Given the description of an element on the screen output the (x, y) to click on. 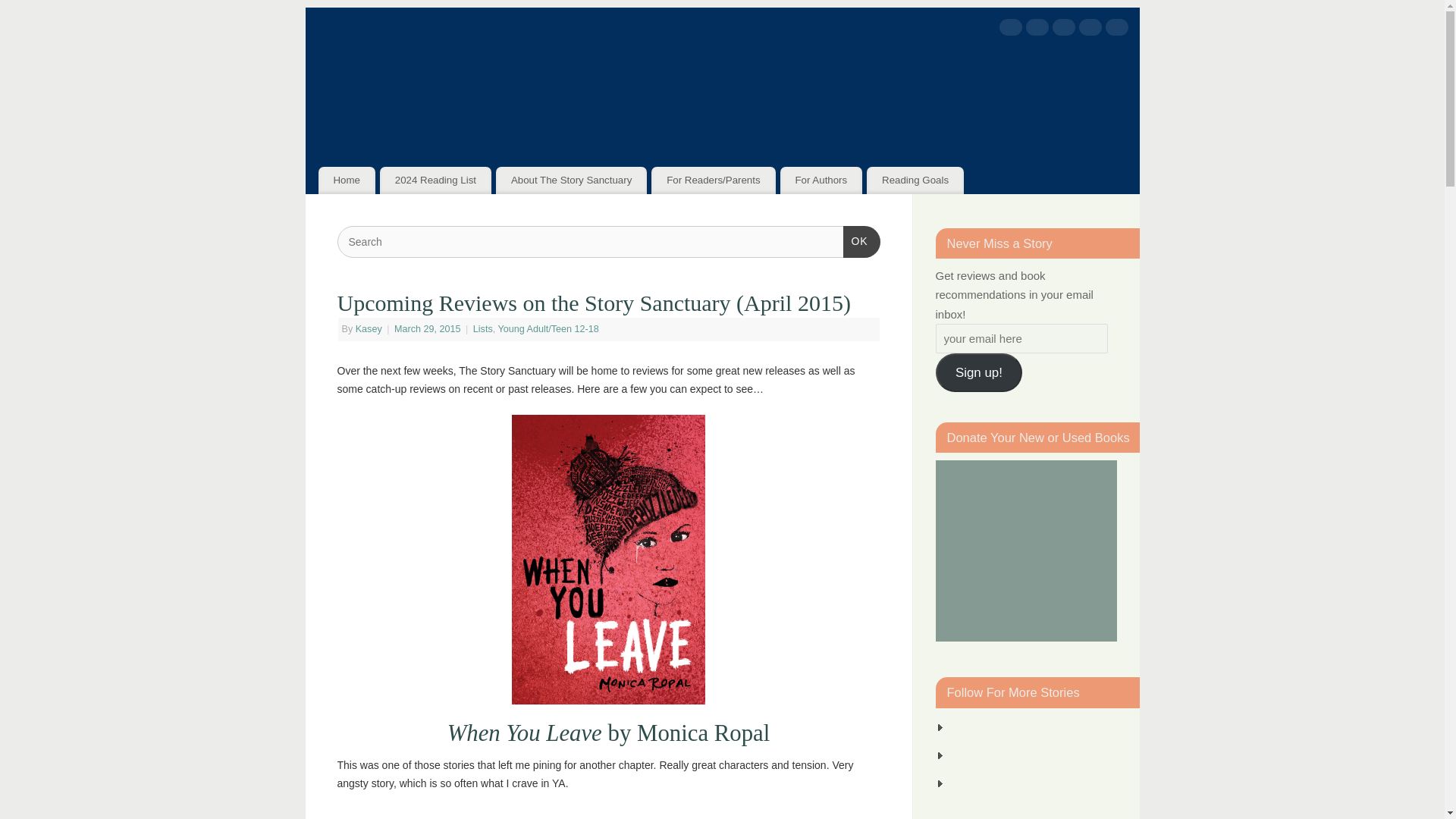
About The Story Sanctuary (571, 180)
Pinterest (1063, 29)
Reading Goals (914, 180)
For Authors (821, 180)
Lists (483, 328)
Facebook (1010, 29)
GoodReads (1089, 29)
5:54 pm (428, 328)
2024 Reading List (436, 180)
View all posts by Kasey (368, 328)
Home (346, 180)
Twitter (1036, 29)
Kasey (368, 328)
Amazon (1116, 29)
